Given the description of an element on the screen output the (x, y) to click on. 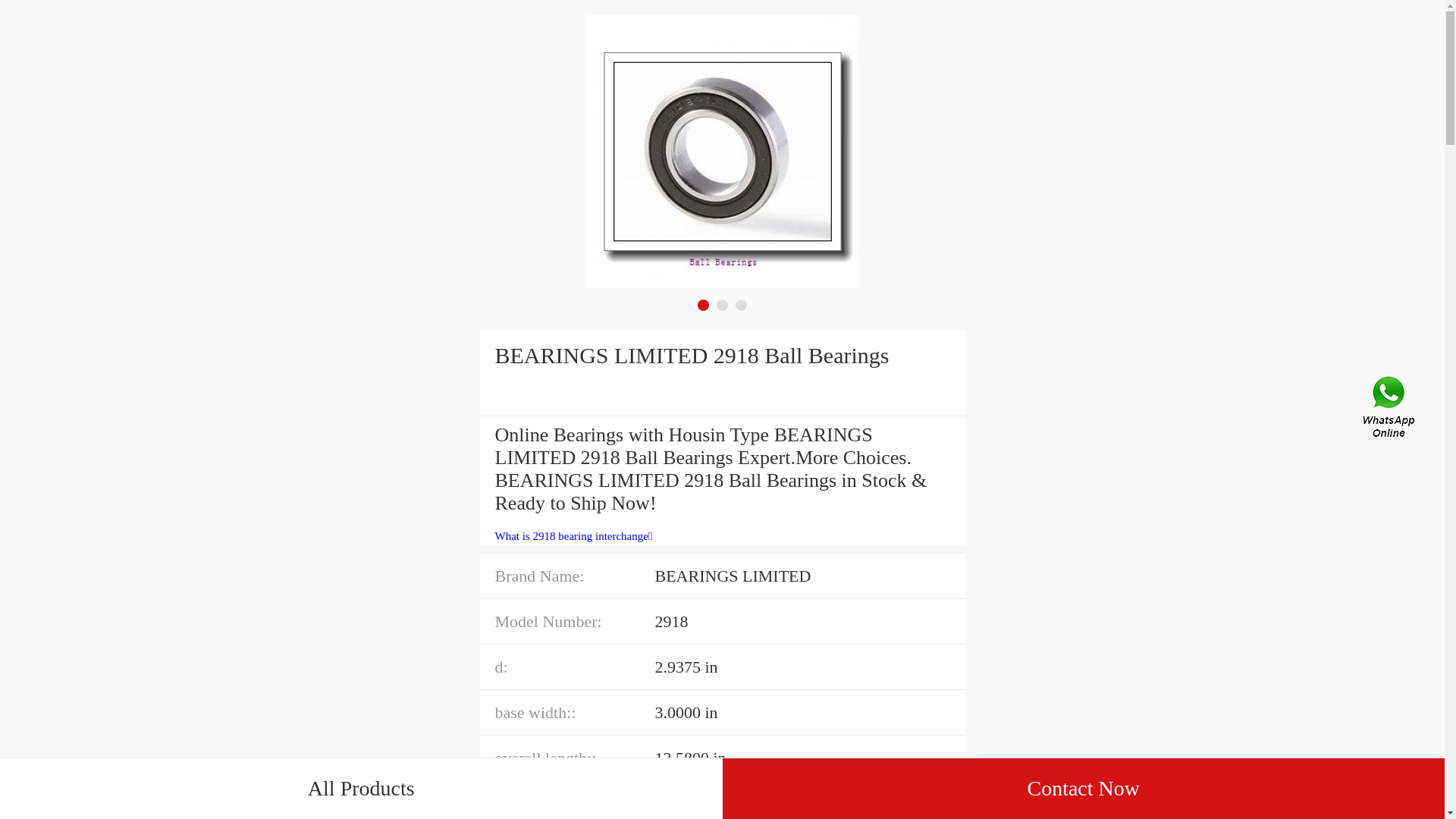
Contact Us Element type: hover (1389, 409)
